Given the description of an element on the screen output the (x, y) to click on. 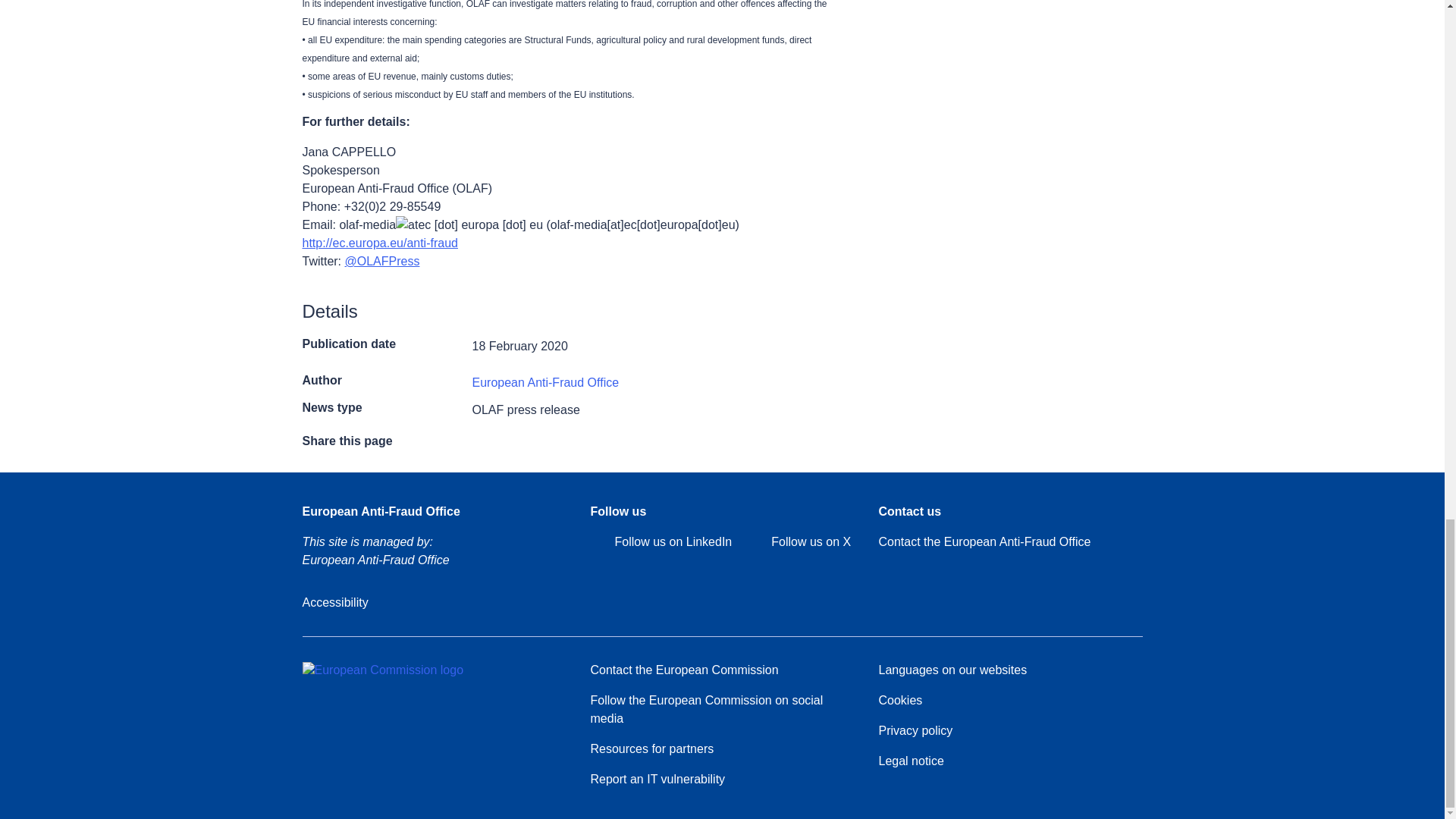
European Commission (382, 669)
